Given the description of an element on the screen output the (x, y) to click on. 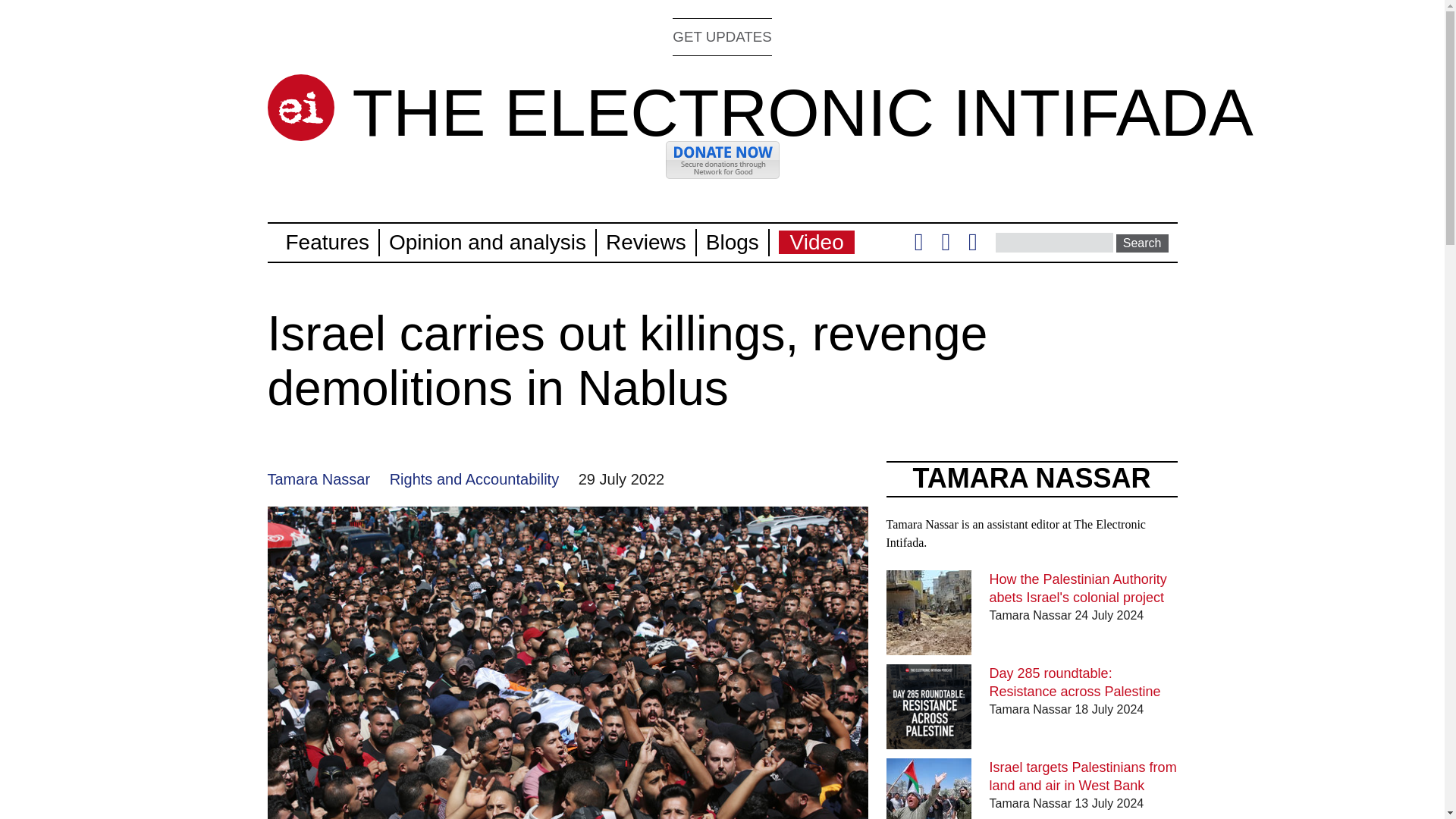
TAMARA NASSAR (1031, 477)
Home (299, 107)
Search (1142, 243)
Rights and Accountability (474, 478)
Enter the terms you wish to search for. (1054, 242)
THE ELECTRONIC INTIFADA (802, 112)
GET UPDATES (721, 37)
Home (802, 112)
Tamara Nassar (317, 478)
